Given the description of an element on the screen output the (x, y) to click on. 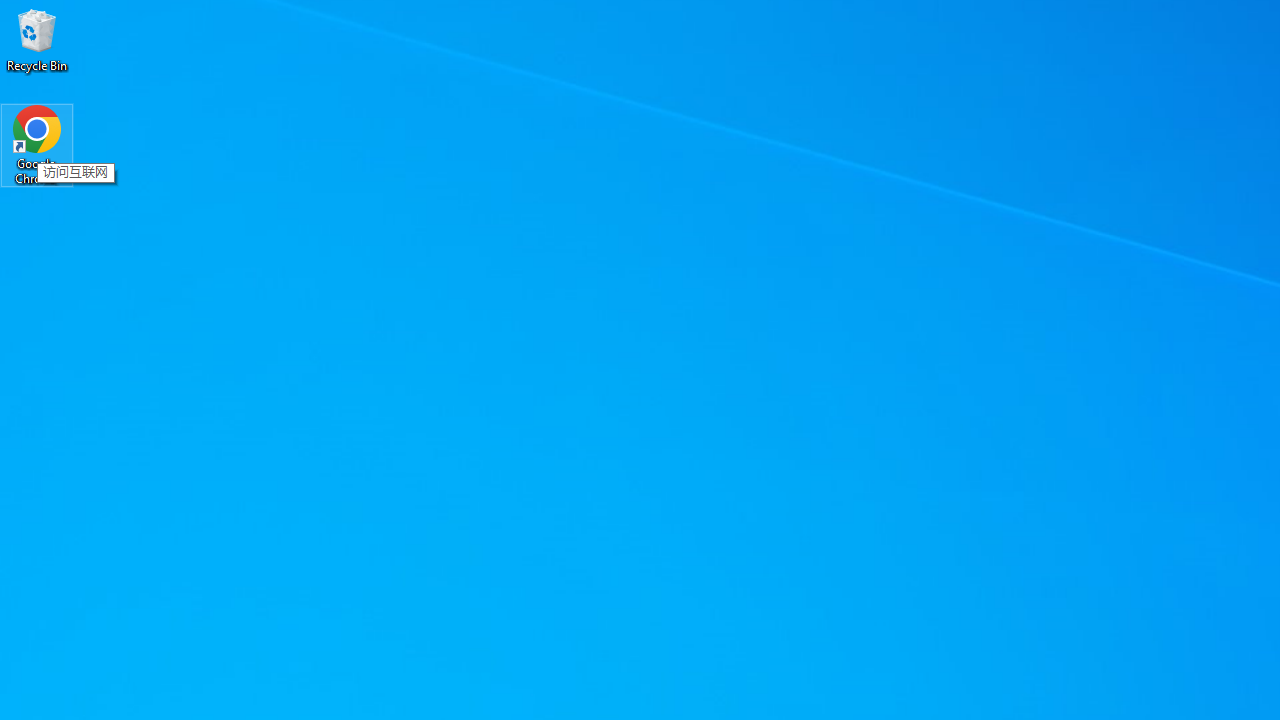
Recycle Bin (37, 39)
Google Chrome (37, 144)
